Given the description of an element on the screen output the (x, y) to click on. 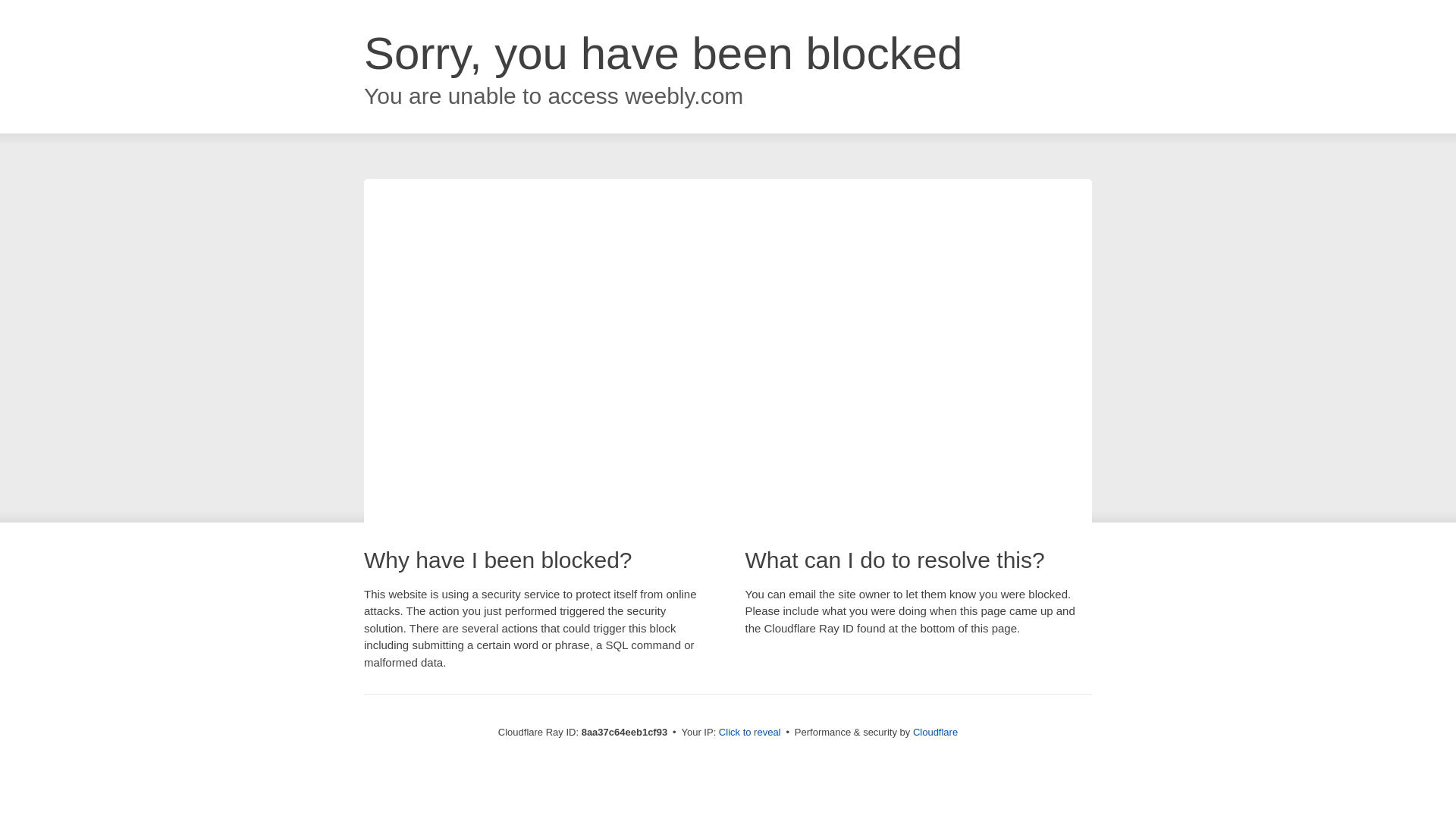
Click to reveal (749, 732)
Cloudflare (935, 731)
